Given the description of an element on the screen output the (x, y) to click on. 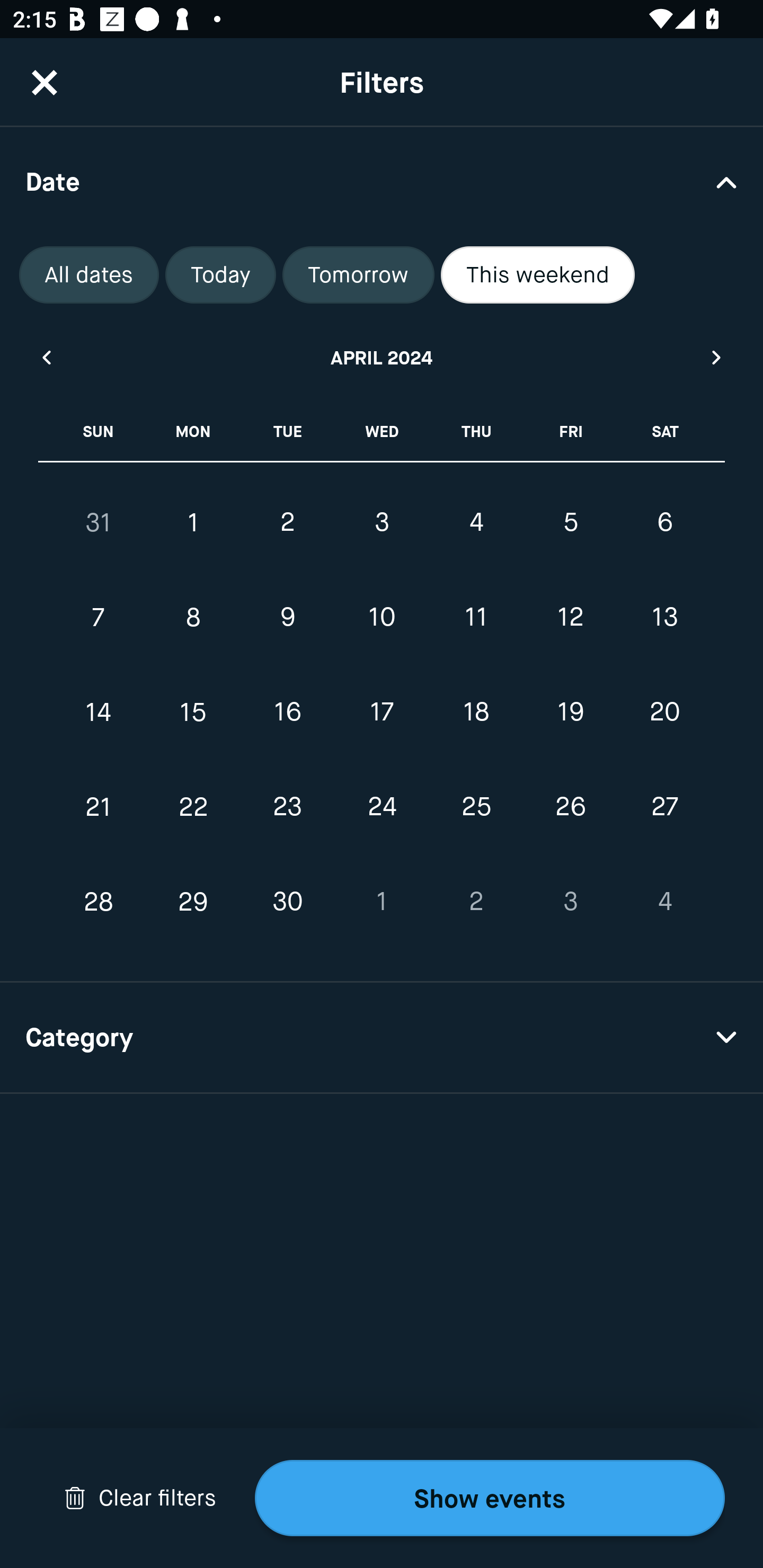
CloseButton (44, 82)
Date Drop Down Arrow (381, 181)
All dates (88, 274)
Today (220, 274)
Tomorrow (358, 274)
This weekend (537, 274)
Previous (45, 357)
Next (717, 357)
31 (98, 522)
1 (192, 522)
2 (287, 522)
3 (381, 522)
4 (475, 522)
5 (570, 522)
6 (664, 522)
7 (98, 617)
8 (192, 617)
9 (287, 617)
10 (381, 617)
11 (475, 617)
12 (570, 617)
13 (664, 617)
14 (98, 711)
15 (192, 711)
16 (287, 711)
17 (381, 711)
18 (475, 711)
19 (570, 711)
20 (664, 711)
21 (98, 806)
22 (192, 806)
23 (287, 806)
24 (381, 806)
25 (475, 806)
26 (570, 806)
27 (664, 806)
28 (98, 901)
29 (192, 901)
30 (287, 901)
1 (381, 901)
2 (475, 901)
3 (570, 901)
4 (664, 901)
Category Drop Down Arrow (381, 1038)
Drop Down Arrow Clear filters (139, 1497)
Show events (489, 1497)
